Given the description of an element on the screen output the (x, y) to click on. 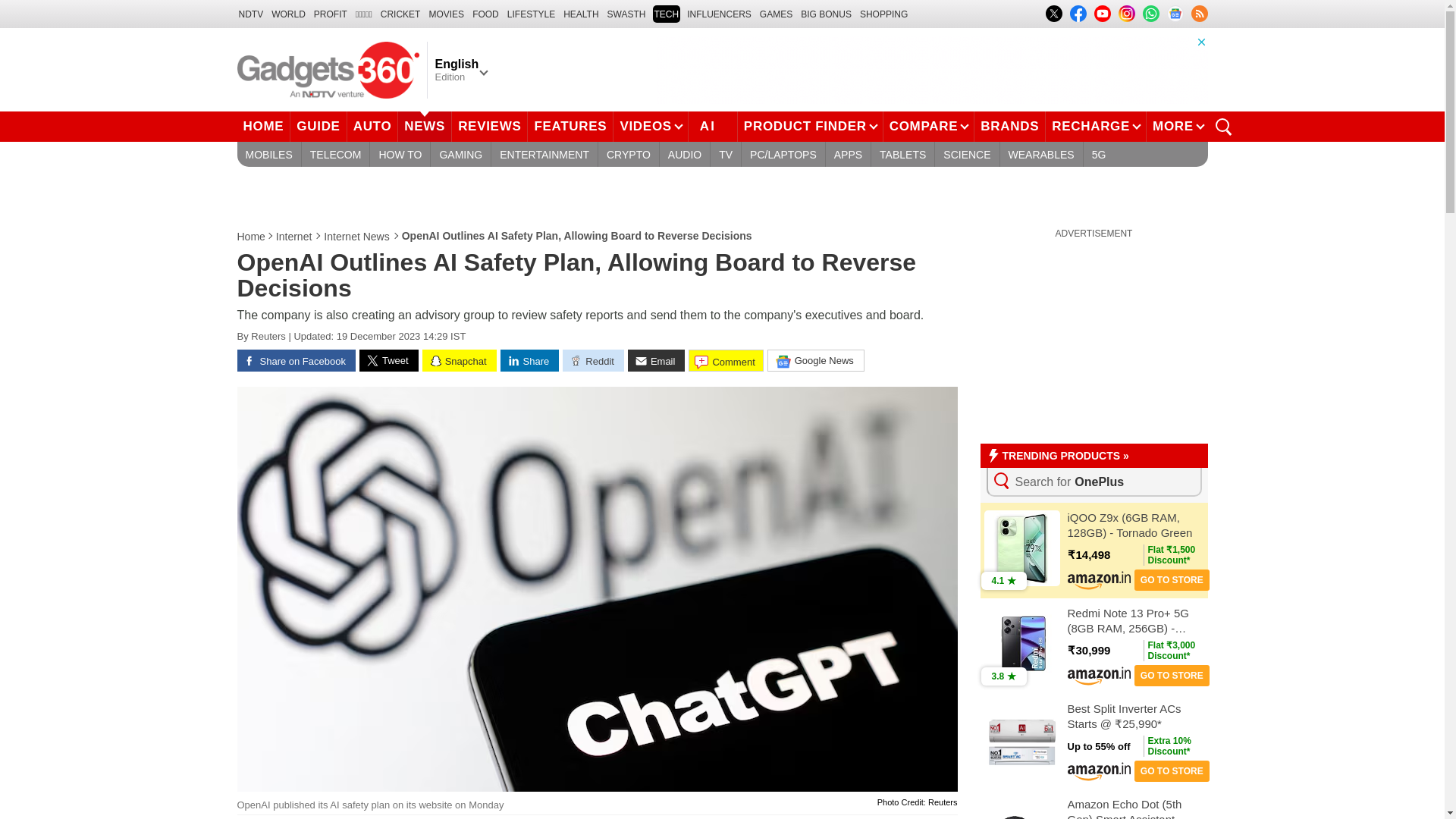
INFLUENCERS (718, 13)
LIFESTYLE (530, 13)
SWASTH (626, 13)
VIDEOS (649, 126)
REVIEWS (489, 126)
LIFESTYLE (530, 13)
WORLD (288, 13)
Influencers (718, 13)
TECH (665, 13)
GAMES (775, 13)
Big Bonus (826, 13)
RSS (1199, 13)
HEALTH (580, 13)
NDTV (249, 13)
FOOD (485, 13)
